Given the description of an element on the screen output the (x, y) to click on. 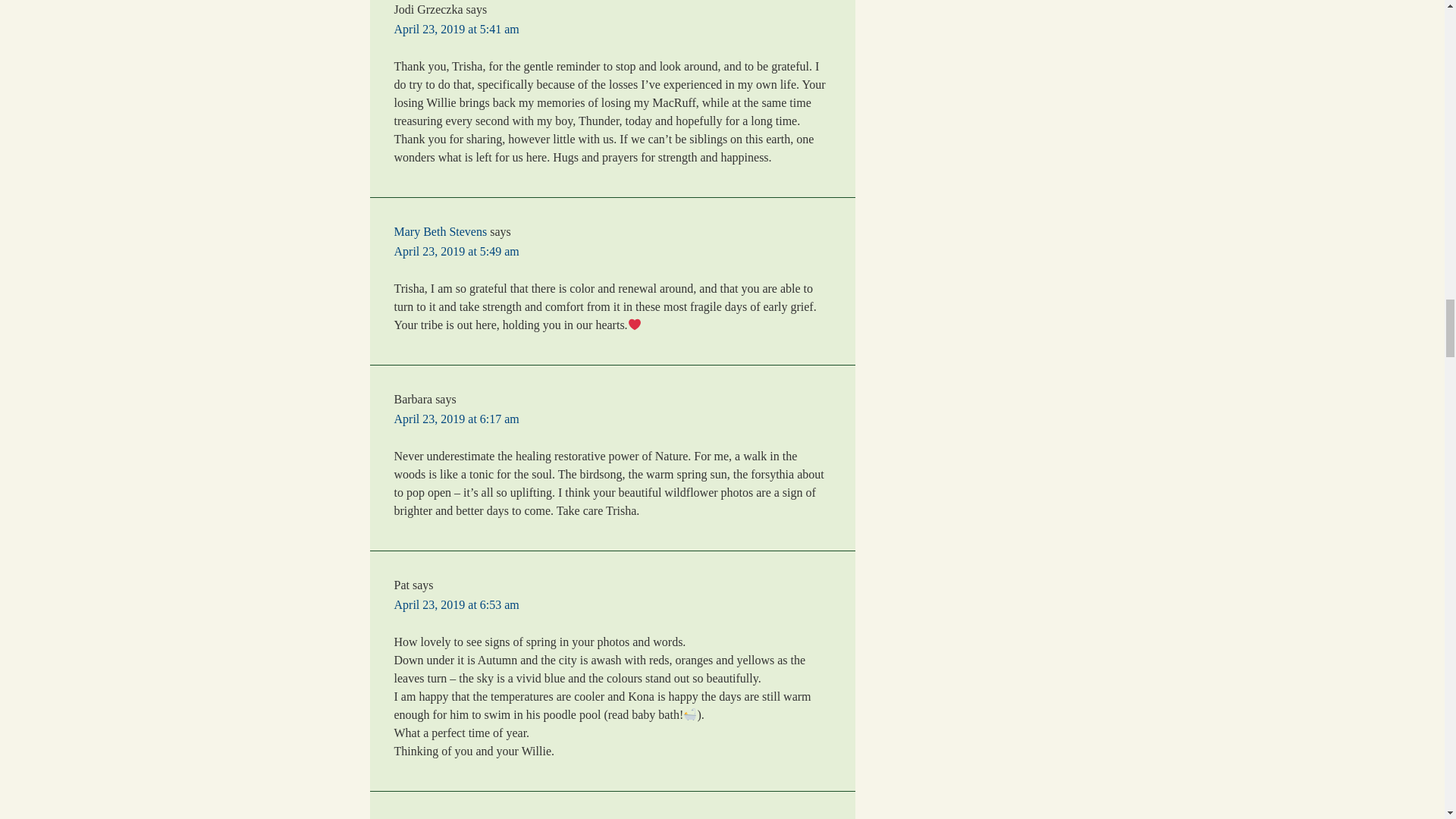
Mary Beth Stevens (440, 231)
April 23, 2019 at 6:53 am (456, 604)
April 23, 2019 at 5:41 am (456, 29)
April 23, 2019 at 6:17 am (456, 418)
April 23, 2019 at 5:49 am (456, 250)
